Given the description of an element on the screen output the (x, y) to click on. 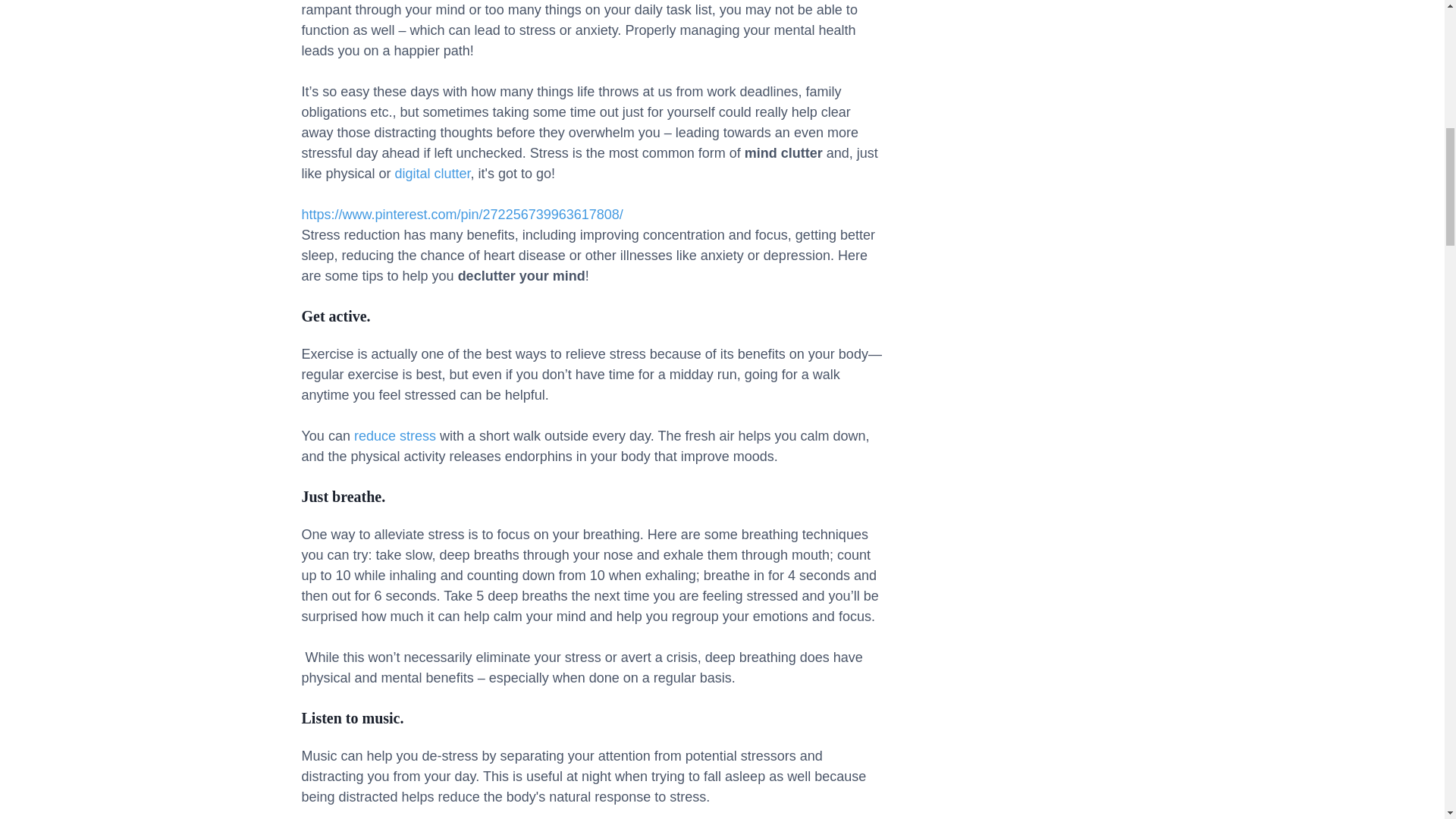
reduce stress (394, 435)
digital clutter (432, 173)
